Given the description of an element on the screen output the (x, y) to click on. 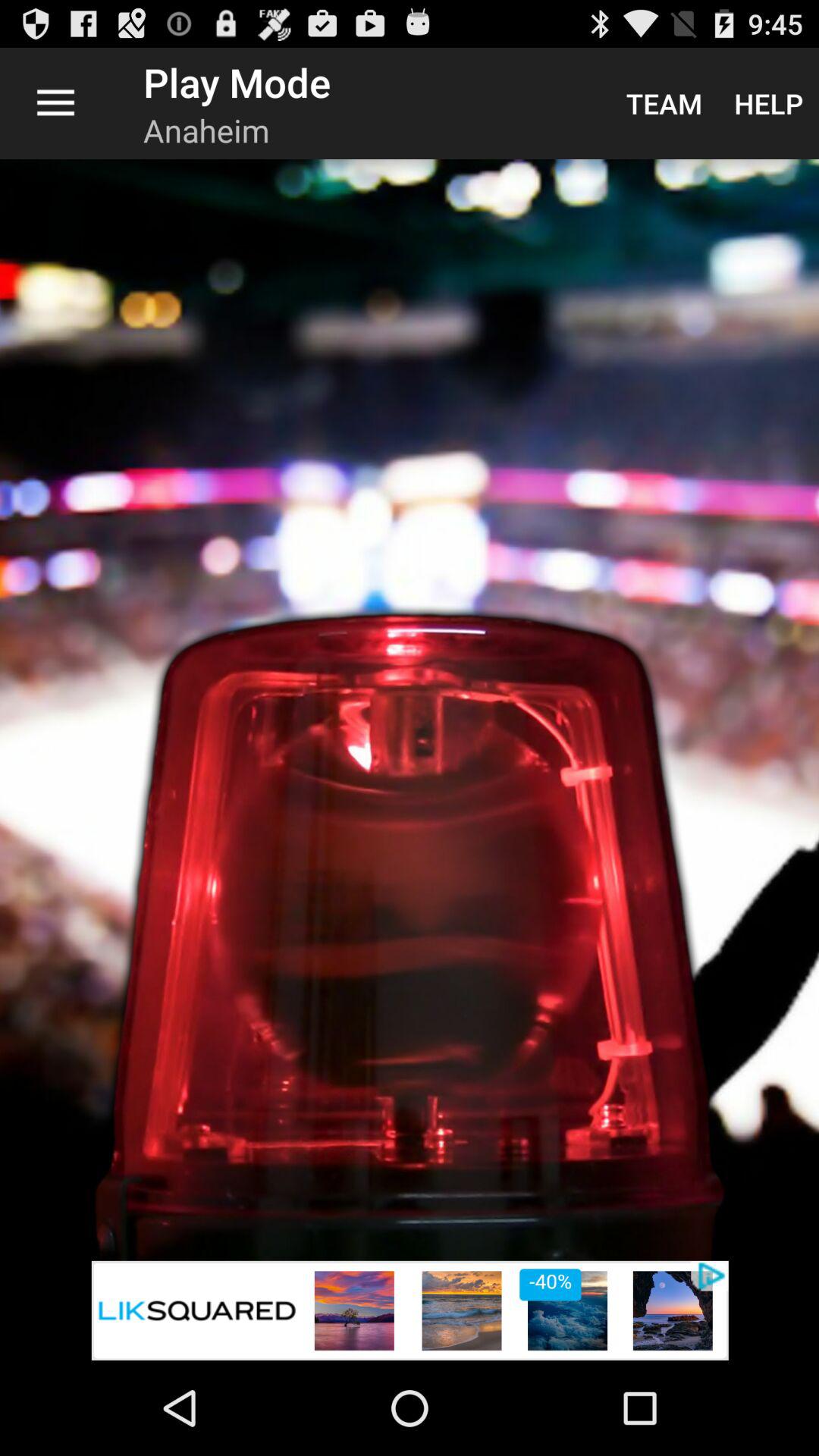
turn on the icon to the left of the help icon (664, 103)
